Given the description of an element on the screen output the (x, y) to click on. 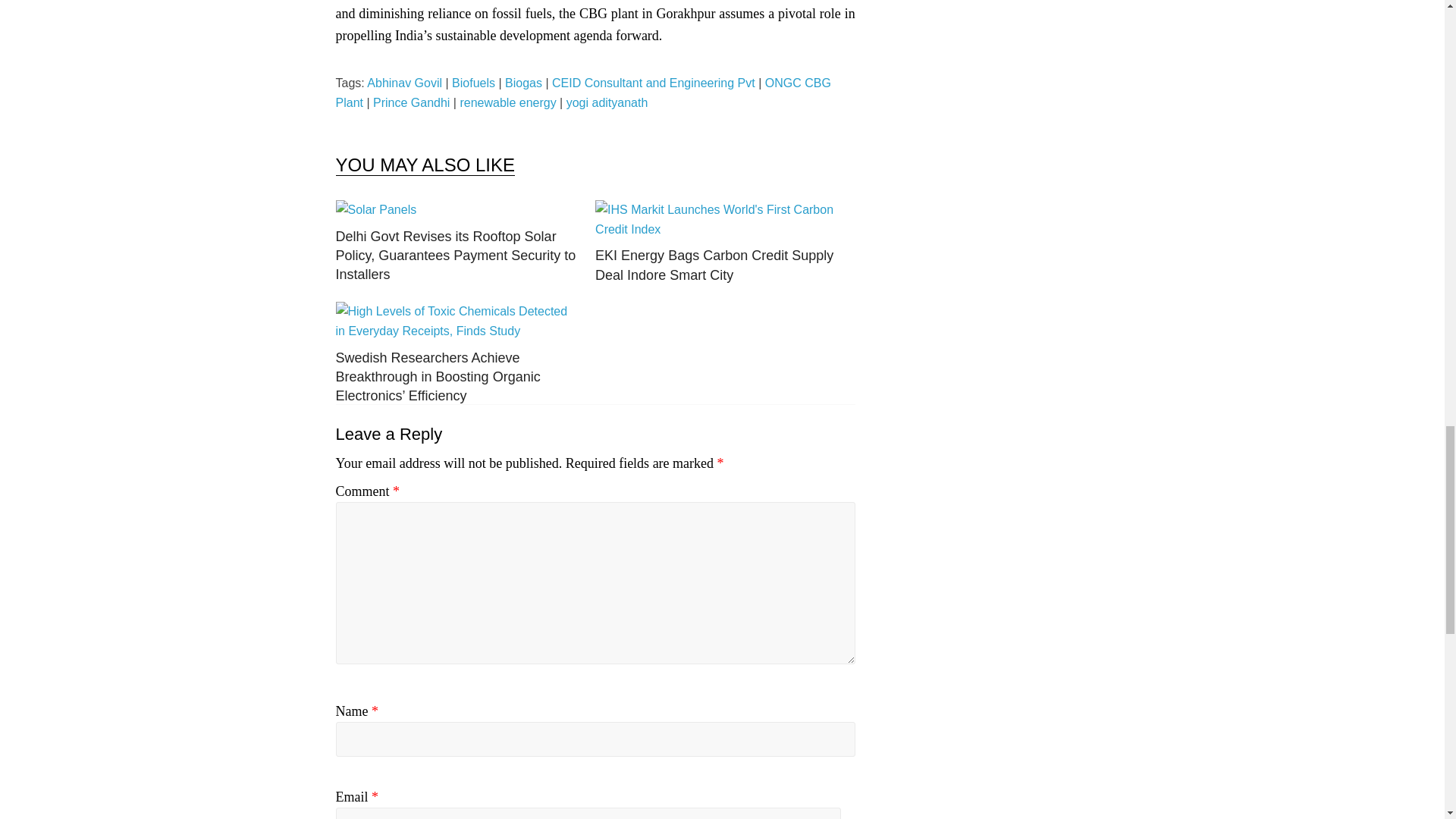
CEID Consultant and Engineering Pvt (653, 82)
EKI Energy Bags Carbon Credit Supply Deal Indore Smart City (713, 264)
Biofuels (473, 82)
Abhinav Govil (404, 82)
EKI Energy Bags Carbon Credit Supply Deal Indore Smart City (717, 209)
Biogas (523, 82)
